Given the description of an element on the screen output the (x, y) to click on. 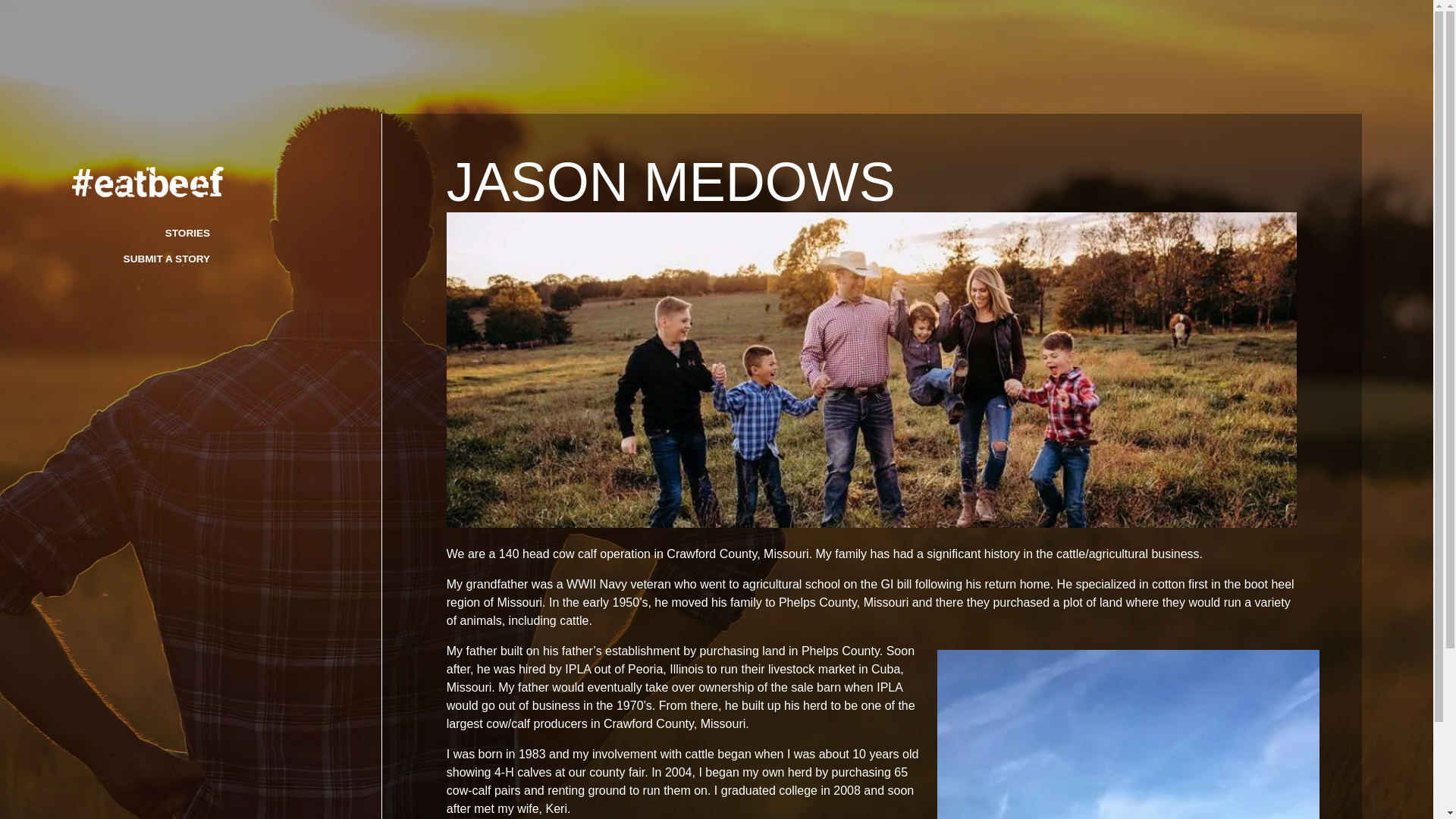
SUBMIT A STORY (167, 258)
STORIES (187, 233)
